Given the description of an element on the screen output the (x, y) to click on. 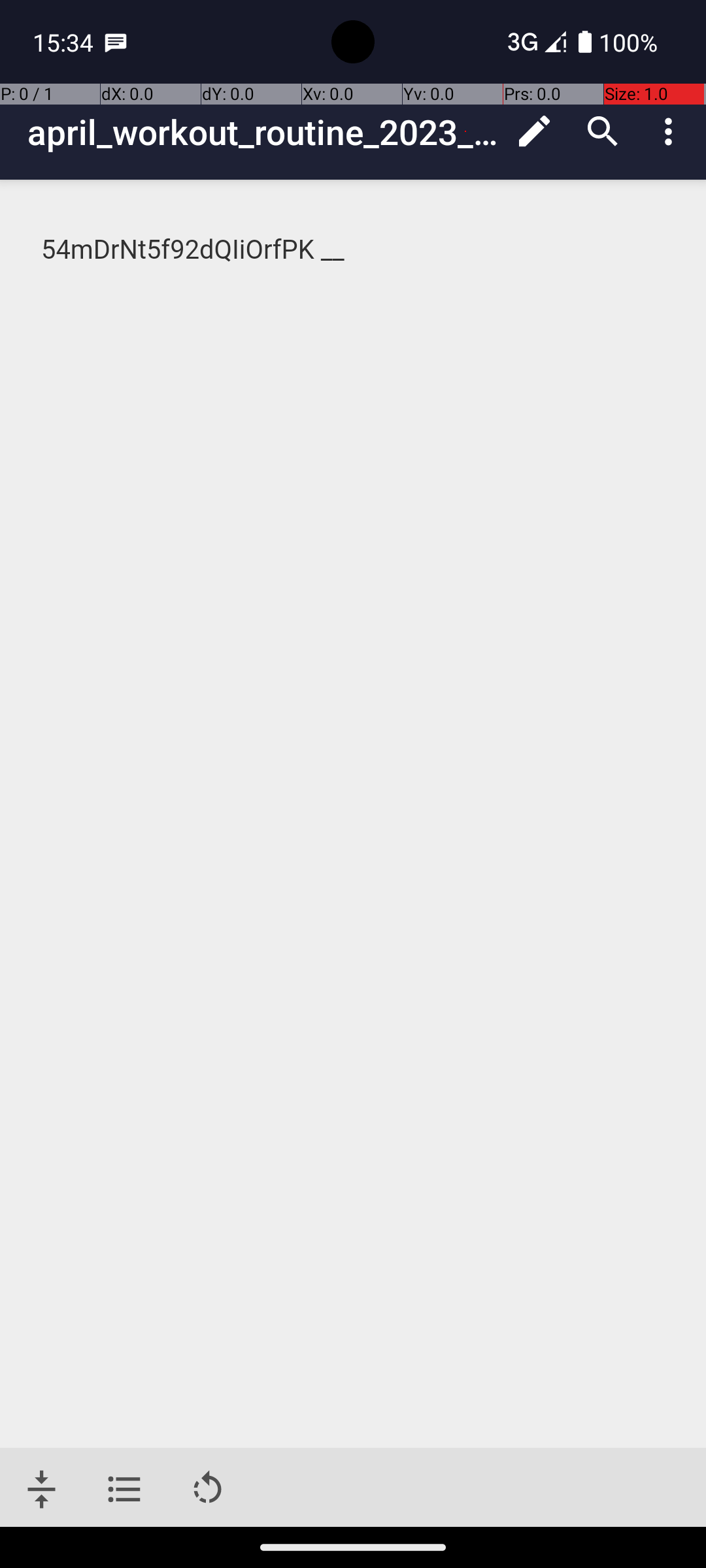
april_workout_routine_2023_02_19 Element type: android.widget.TextView (263, 131)
Edit mode Element type: android.widget.TextView (534, 131)
Jump to bottom Element type: android.widget.ImageView (41, 1488)
Table of contents Element type: android.widget.ImageView (124, 1488)
Rotate Element type: android.widget.ImageView (207, 1488)
54mDrNt5f92dQIiOrfPK __ Element type: android.widget.TextView (354, 249)
